Given the description of an element on the screen output the (x, y) to click on. 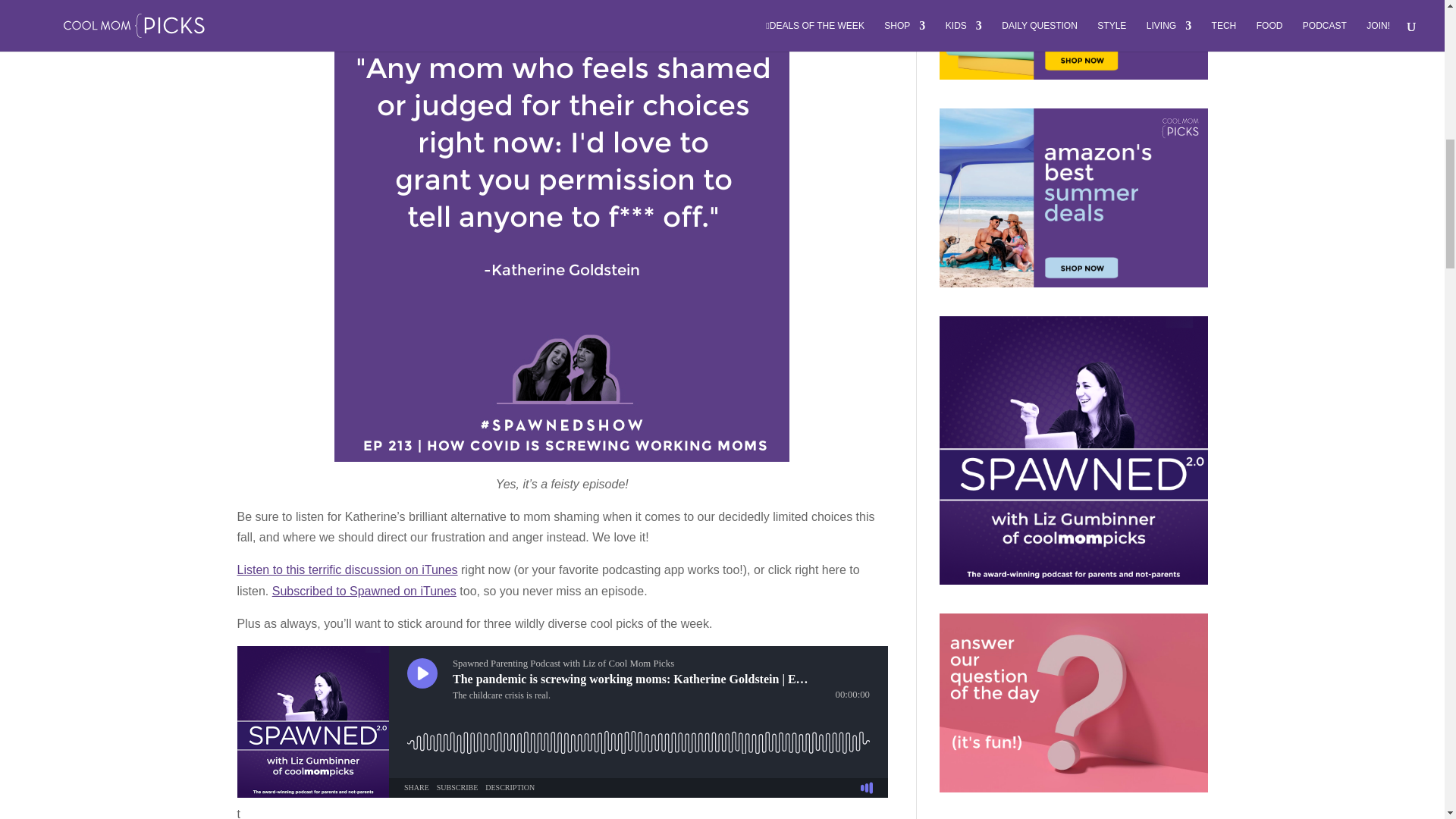
subscribed to our show on iTunes (364, 590)
Amazon's best summer deals (1073, 197)
